Given the description of an element on the screen output the (x, y) to click on. 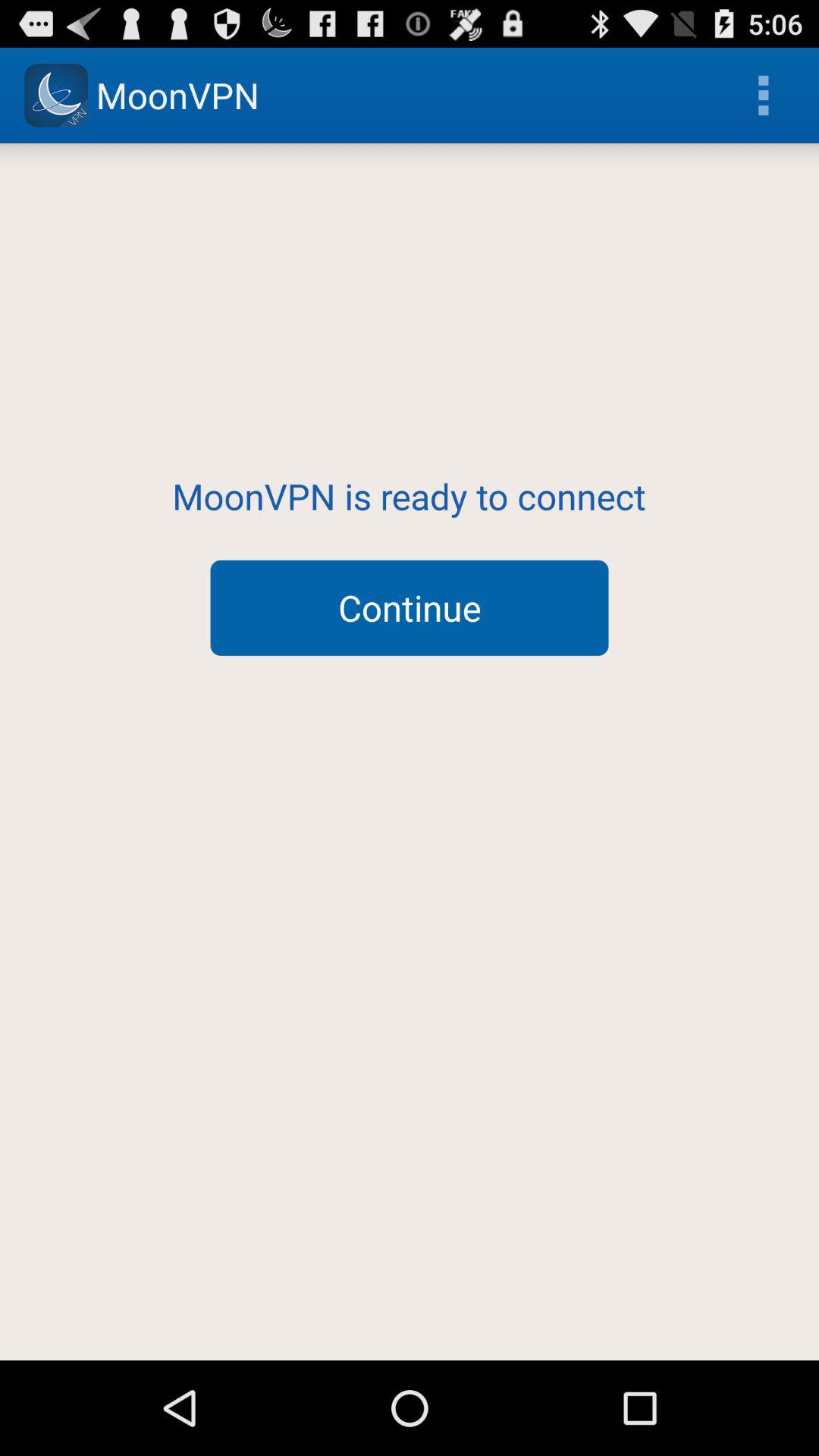
click item to the right of moonvpn icon (763, 95)
